Given the description of an element on the screen output the (x, y) to click on. 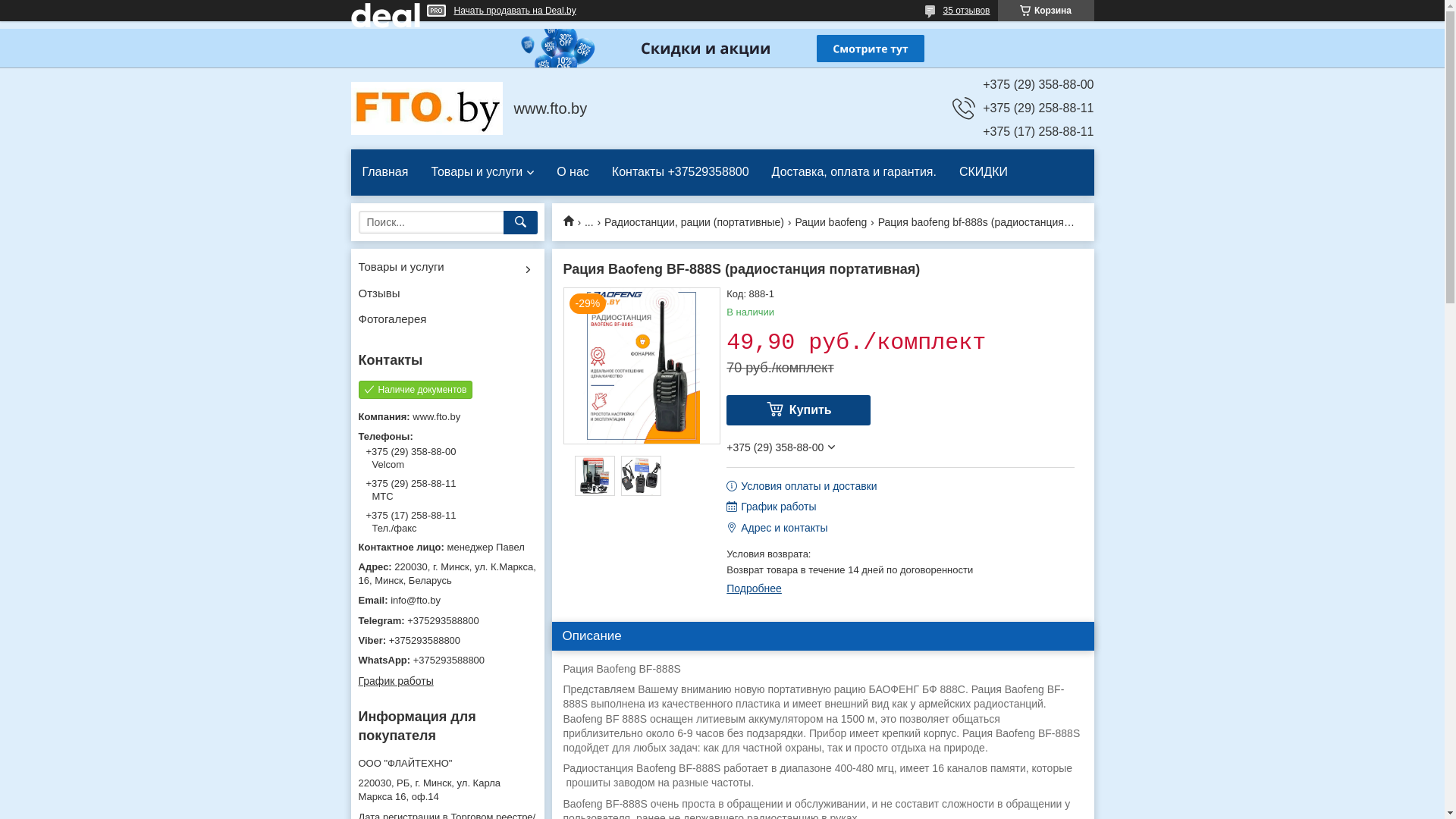
Www.fto.by Element type: hover (572, 220)
www.fto.by Element type: hover (426, 107)
info@fto.by Element type: text (446, 600)
